Given the description of an element on the screen output the (x, y) to click on. 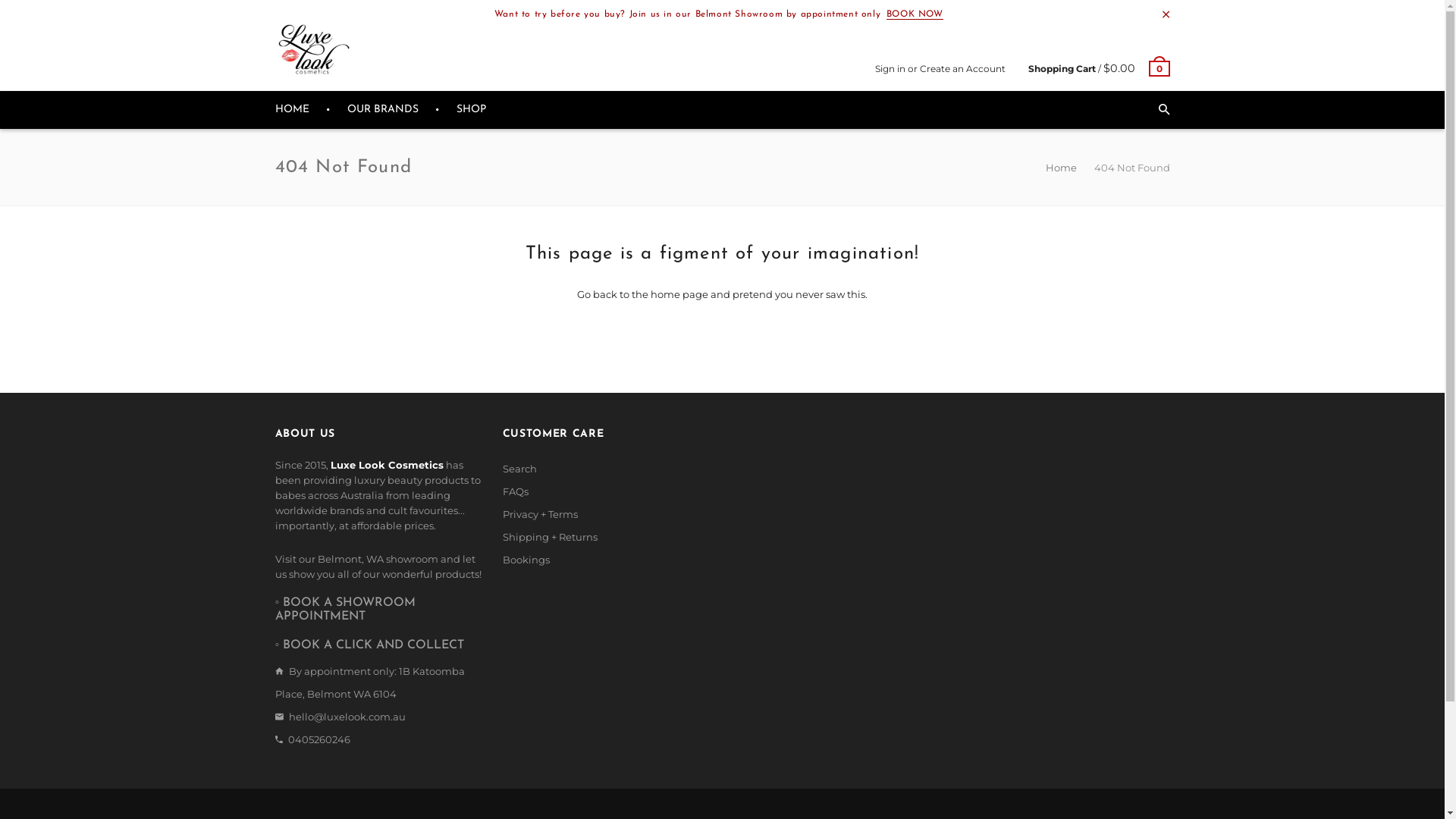
Sign in or Create an Account Element type: text (940, 68)
home page Element type: text (679, 294)
BOOK NOW Element type: text (914, 14)
OUR BRANDS Element type: text (382, 109)
Shipping + Returns Element type: text (549, 536)
FAQs Element type: text (514, 491)
hello@luxelook.com.au Element type: text (346, 716)
Shopping Cart / $0.00 0 Element type: text (1099, 68)
Home Element type: text (1061, 167)
HOME Element type: text (291, 109)
Privacy + Terms Element type: text (539, 513)
Search Element type: text (519, 468)
SHOP Element type: text (471, 109)
Bookings Element type: text (525, 559)
Luxe Look Cosmetics Element type: hover (312, 49)
